Given the description of an element on the screen output the (x, y) to click on. 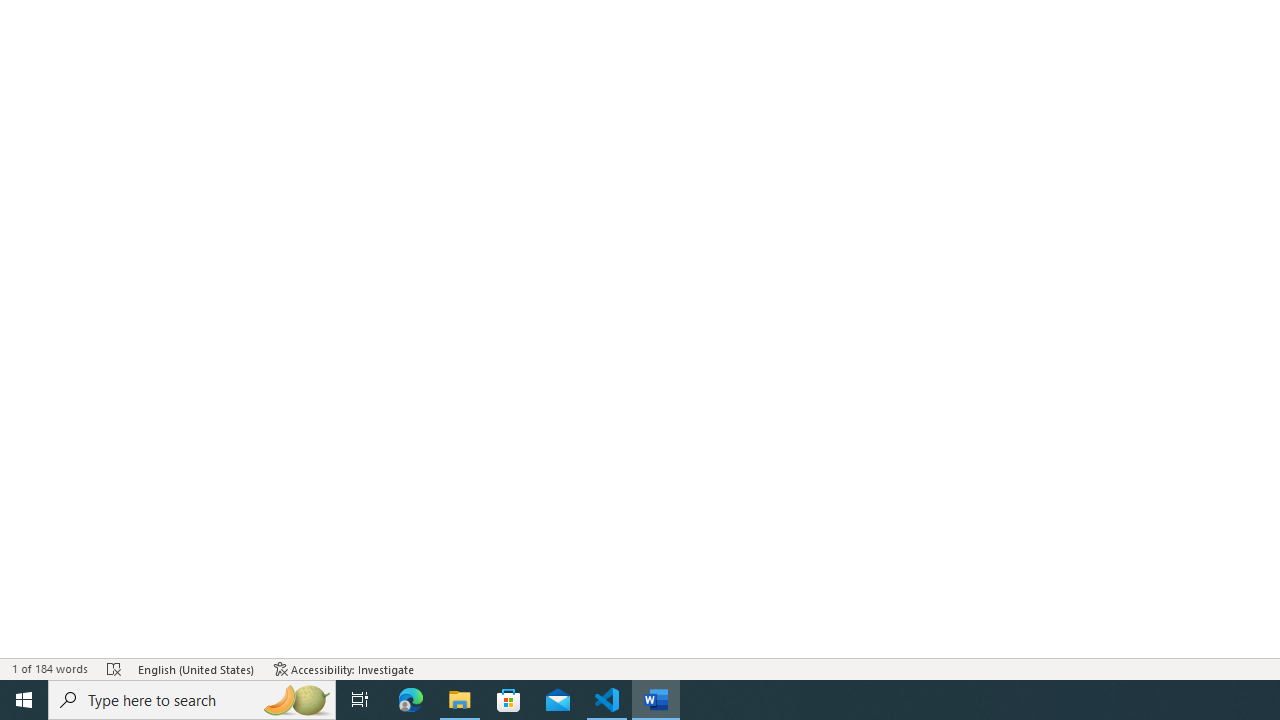
Word Count 1 of 184 words (49, 668)
